Given the description of an element on the screen output the (x, y) to click on. 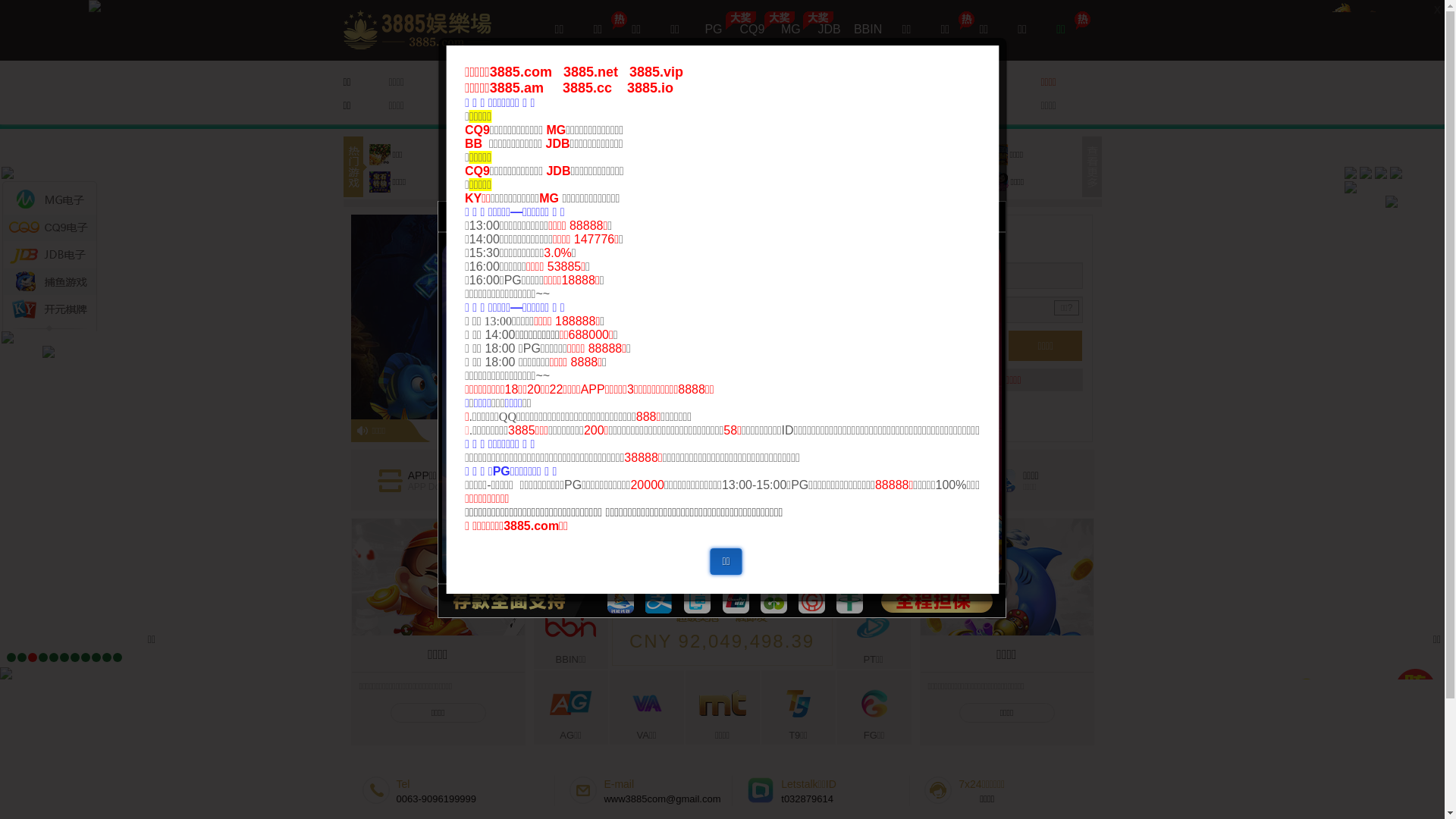
3 Element type: text (32, 657)
MG Element type: text (790, 29)
10 Element type: text (106, 657)
6 Element type: text (64, 657)
11 Element type: text (117, 657)
4 Element type: text (42, 657)
7 Element type: text (74, 657)
1 Element type: text (10, 657)
Reset Focus Element type: text (464, 574)
CQ9 Element type: text (751, 29)
PG Element type: text (713, 29)
X Element type: text (1437, 9)
APP Element type: text (459, 105)
2 Element type: text (21, 657)
BBIN Element type: text (867, 29)
JDB Element type: text (829, 29)
8 Element type: text (85, 657)
5 Element type: text (53, 657)
9 Element type: text (95, 657)
